Given the description of an element on the screen output the (x, y) to click on. 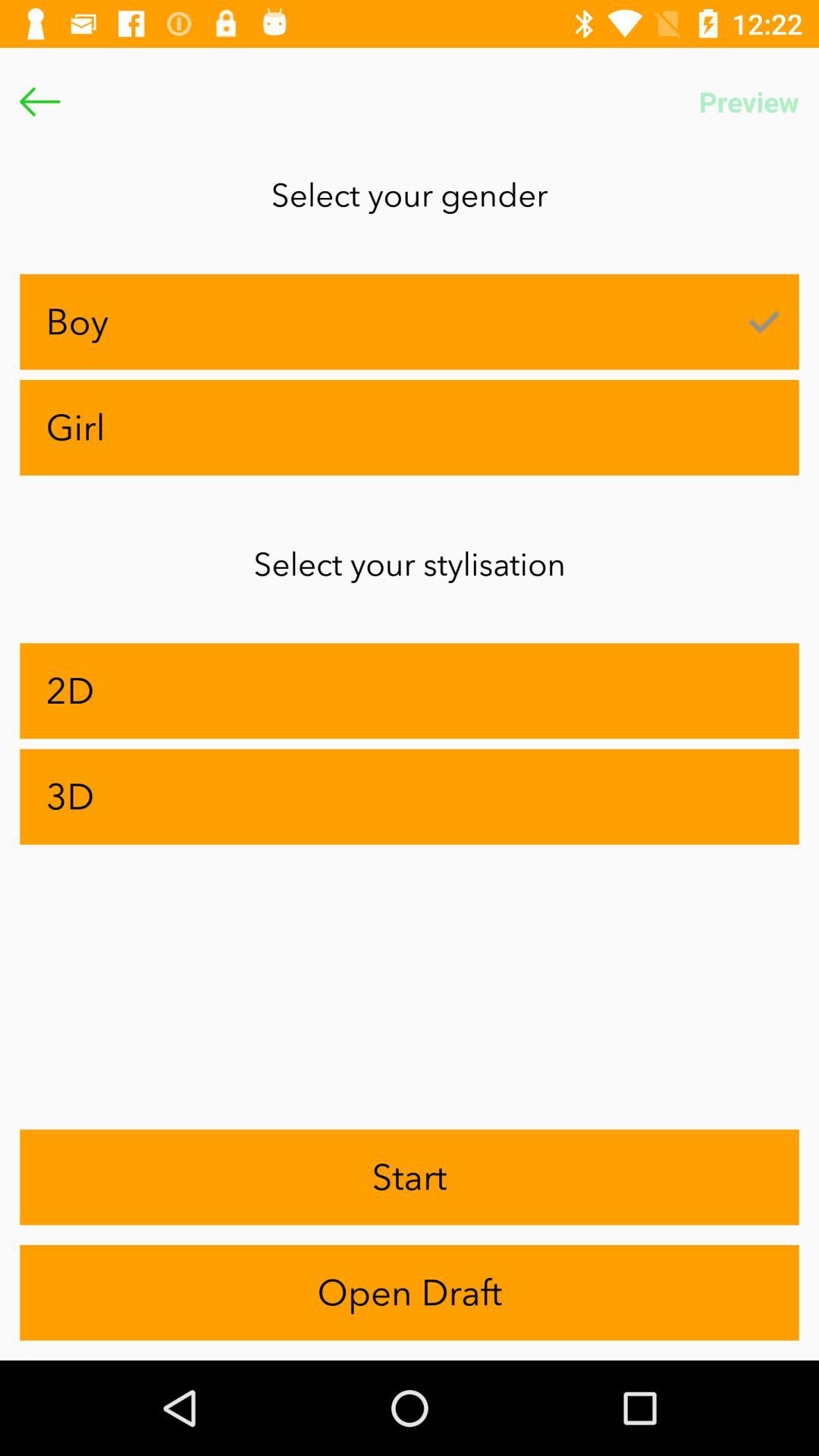
tap the start item (409, 1177)
